Given the description of an element on the screen output the (x, y) to click on. 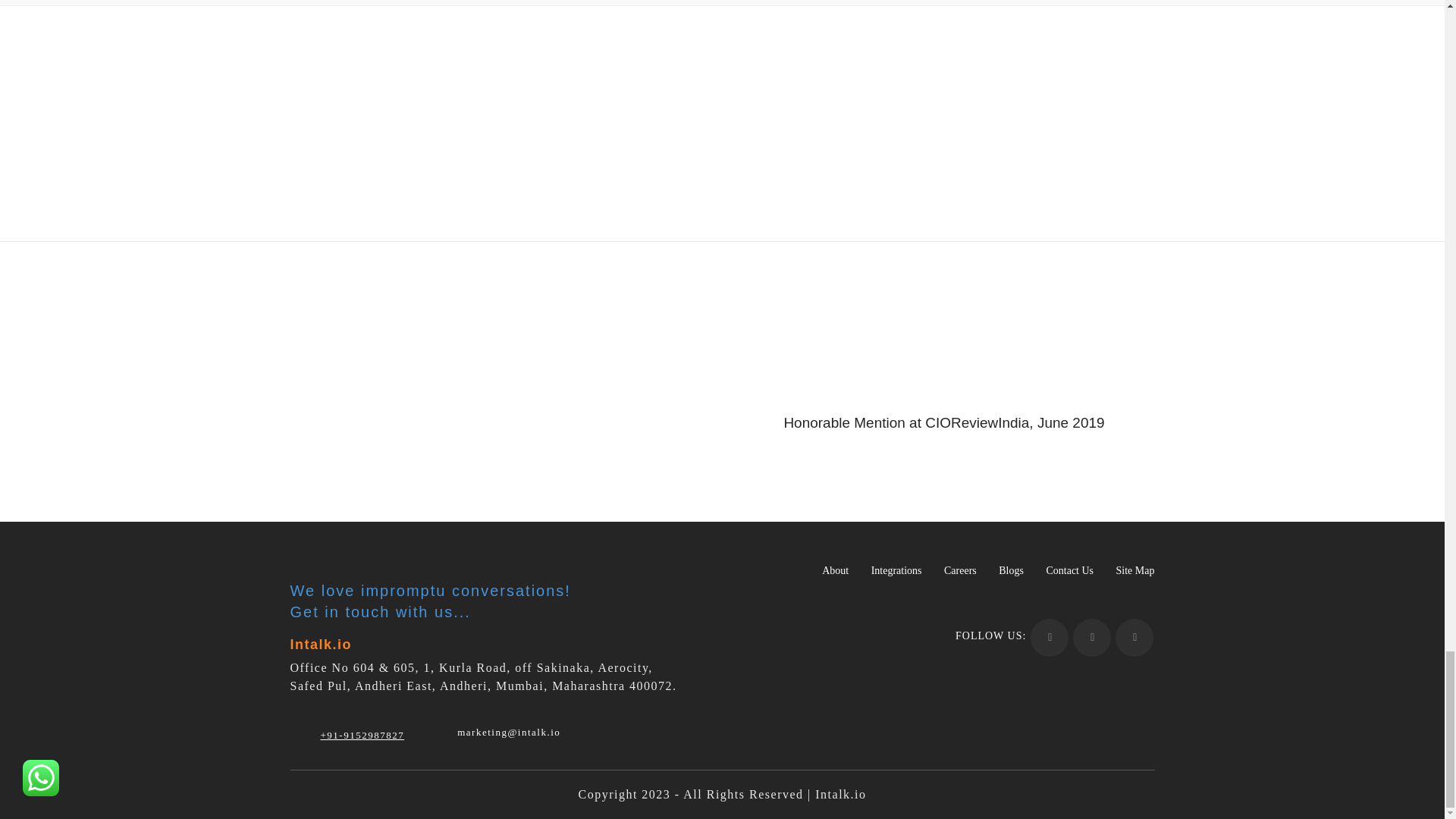
InTalk.io Twitter Page (1134, 637)
InTalk.io Facebook Page (1049, 637)
InTalk.io Linkedin Page (1091, 637)
